Given the description of an element on the screen output the (x, y) to click on. 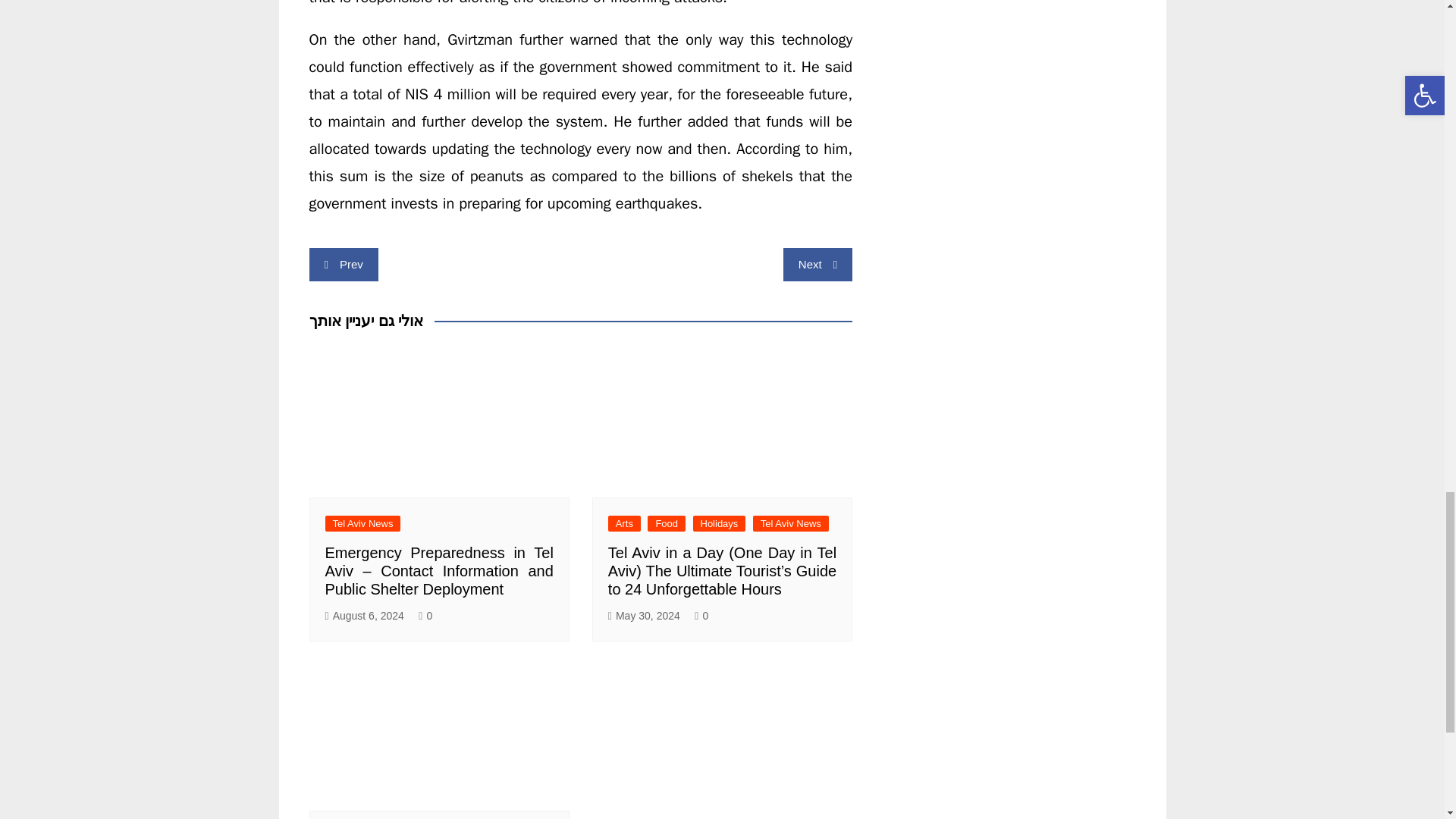
Prev (343, 264)
August 6, 2024 (363, 615)
Food (666, 523)
Next (817, 264)
Holidays (719, 523)
May 30, 2024 (643, 615)
Tel Aviv News (790, 523)
Arts (624, 523)
Tel Aviv News (362, 523)
